Given the description of an element on the screen output the (x, y) to click on. 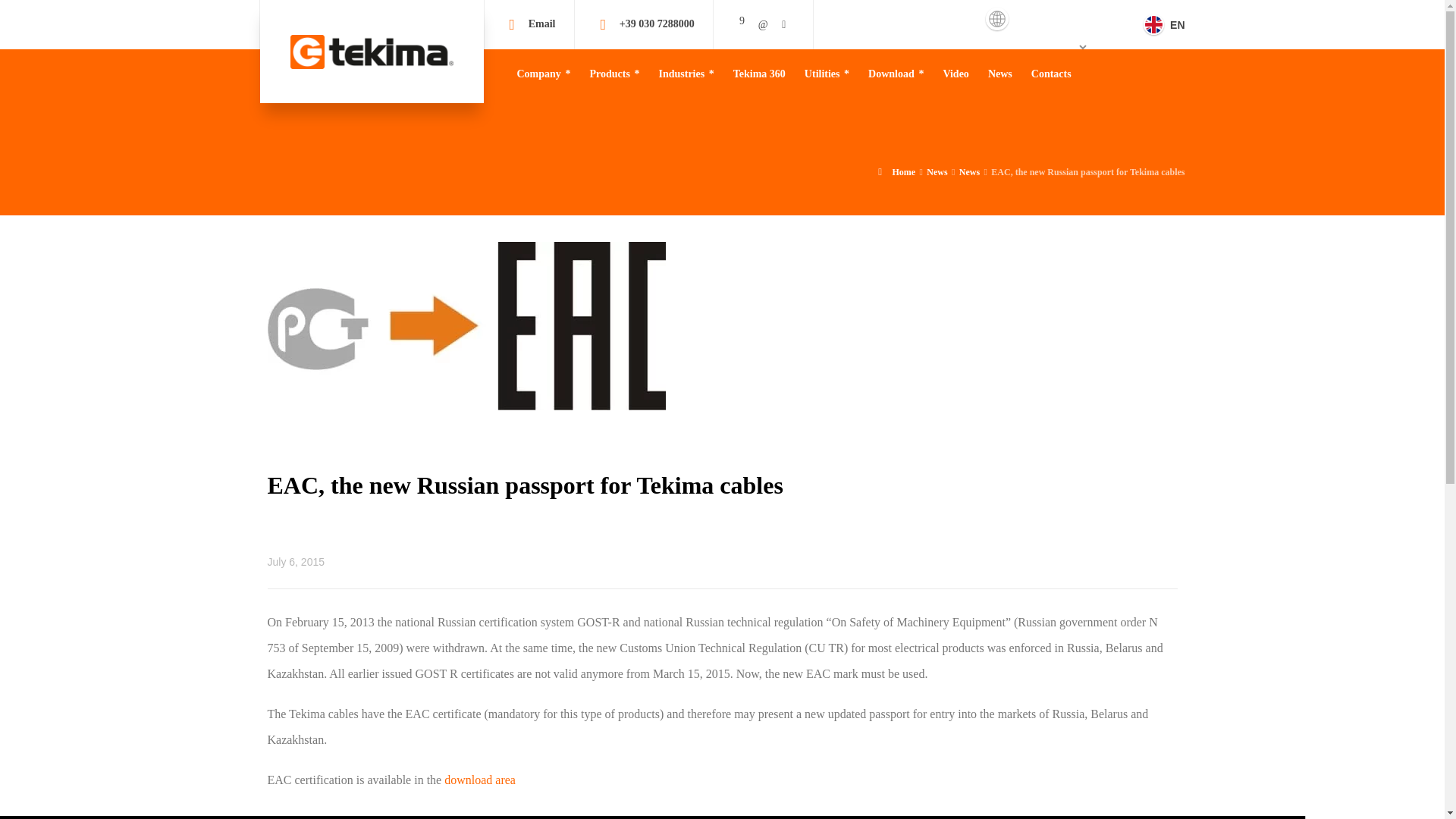
Email (542, 23)
Facebook (742, 20)
Linkedin (762, 23)
Products (614, 73)
Email (542, 23)
Switch the language (1161, 24)
Company (544, 73)
Tekima (370, 51)
click to call (657, 23)
YouTube (784, 23)
EN (1161, 24)
